Given the description of an element on the screen output the (x, y) to click on. 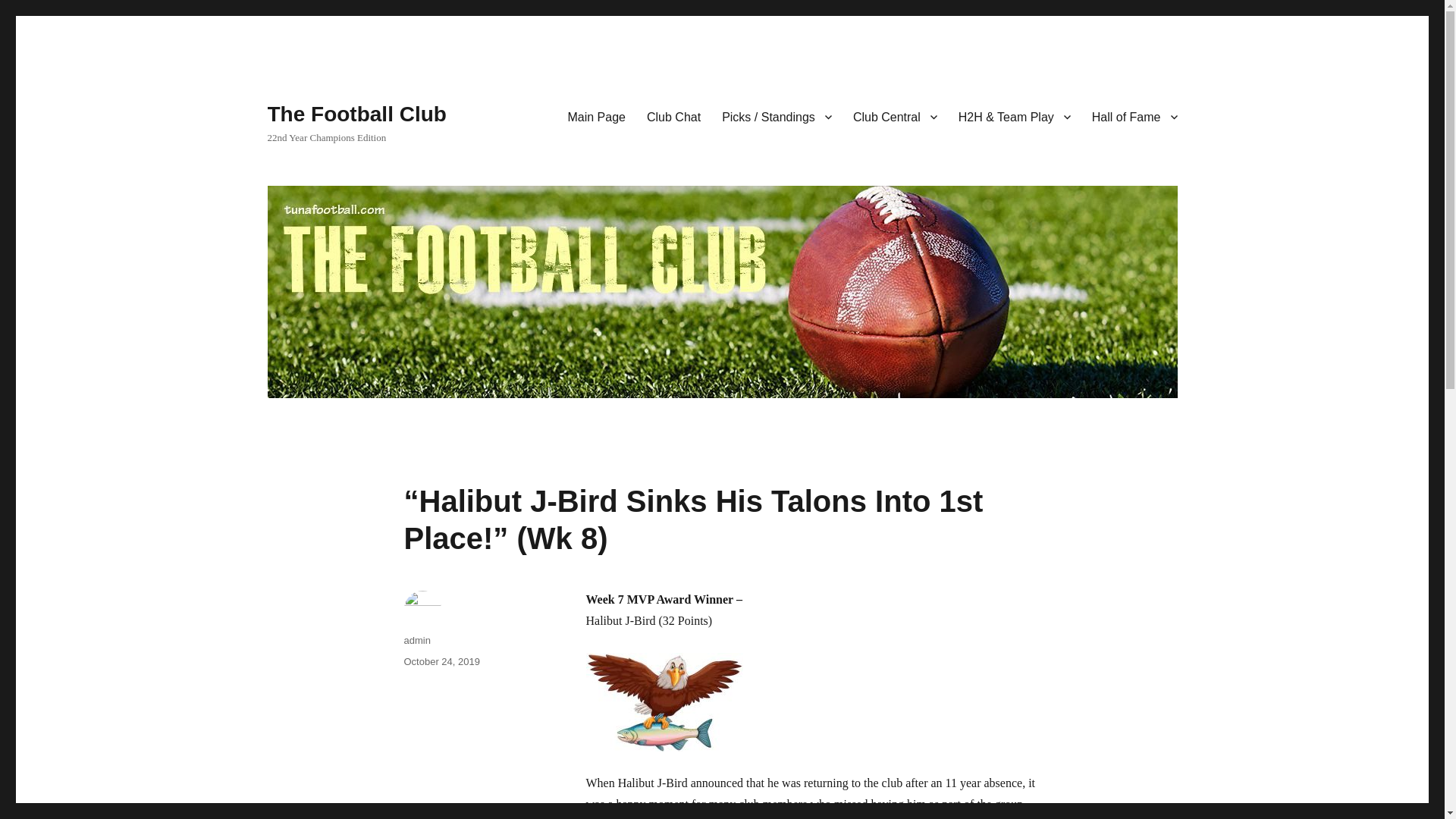
The Football Club (355, 114)
admin (416, 640)
Hall of Fame (1134, 116)
Club Central (895, 116)
Club Chat (673, 116)
Main Page (596, 116)
October 24, 2019 (441, 661)
